Given the description of an element on the screen output the (x, y) to click on. 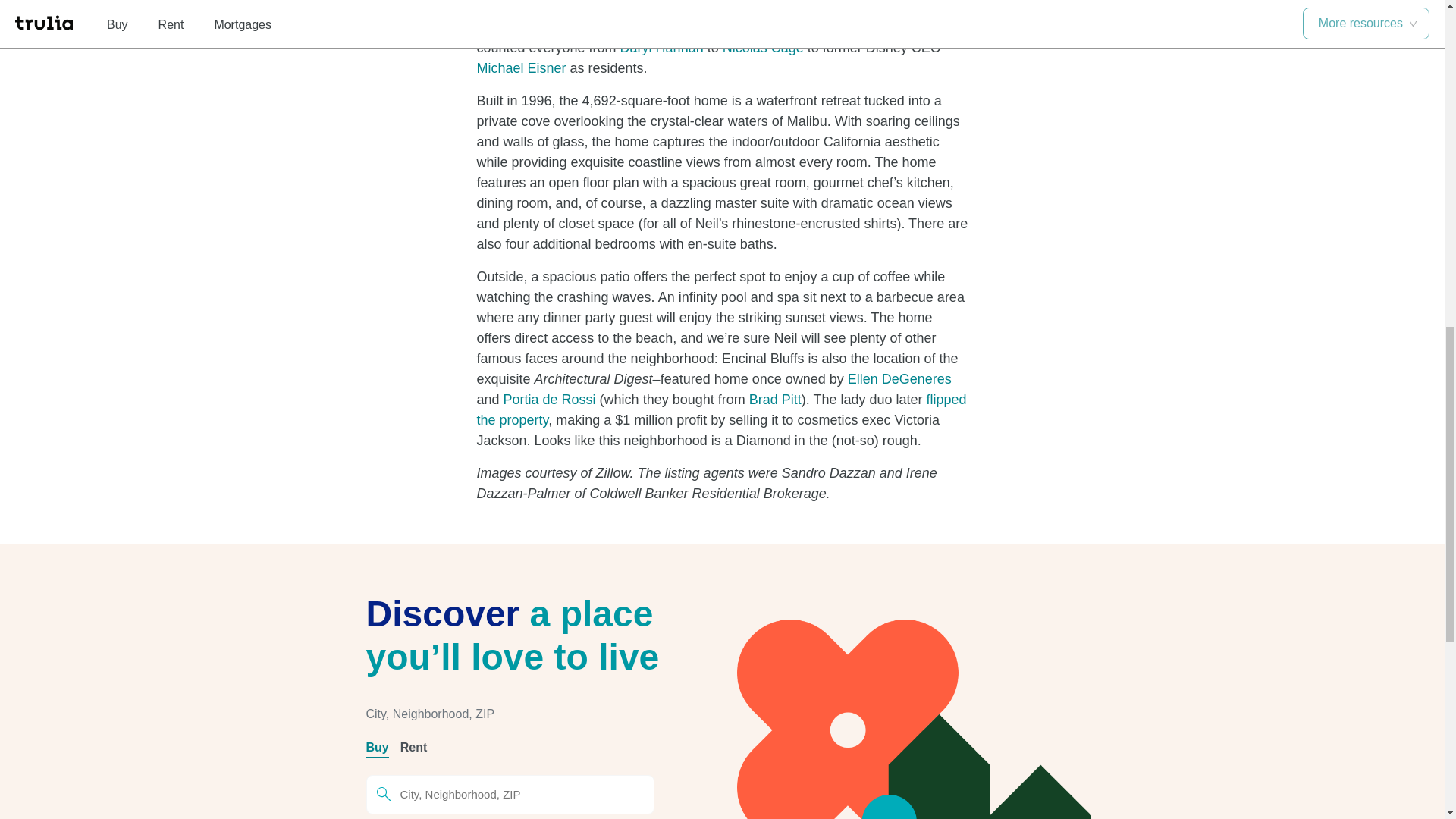
Ellen DeGeneres (899, 378)
Nicolas Cage (762, 47)
Portia de Rossi (549, 399)
Brad Pitt (775, 399)
Daryl Hannah (661, 47)
Michael Eisner (521, 68)
flipped the property (721, 409)
